Given the description of an element on the screen output the (x, y) to click on. 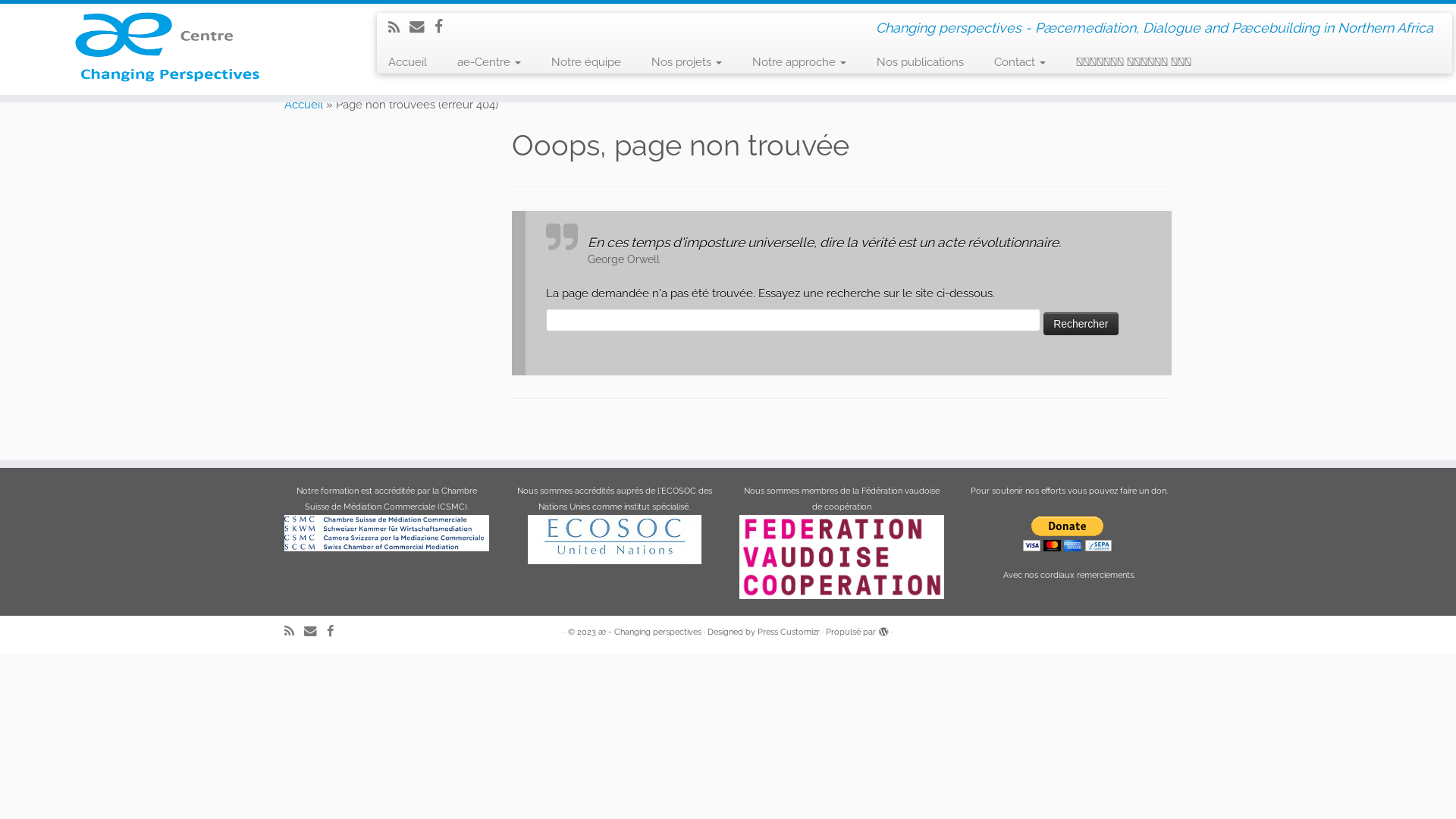
Accueil Element type: text (413, 61)
Suivez-moi sur Facebook Element type: hover (334, 631)
Nos publications Element type: text (920, 61)
Nos projets Element type: text (686, 61)
Contact Element type: text (1019, 61)
Accueil Element type: text (303, 104)
Notre approche Element type: text (799, 61)
Press Customizr Element type: text (787, 632)
E-mail Element type: hover (315, 631)
ae-Centre Element type: text (489, 61)
Abonnez-vous au flux rss Element type: hover (398, 27)
Rechercher Element type: text (1080, 323)
E-mail Element type: hover (421, 26)
Abonnez-vous au flux rss Element type: hover (294, 631)
Suivez-moi sur Facebook Element type: hover (443, 26)
